Given the description of an element on the screen output the (x, y) to click on. 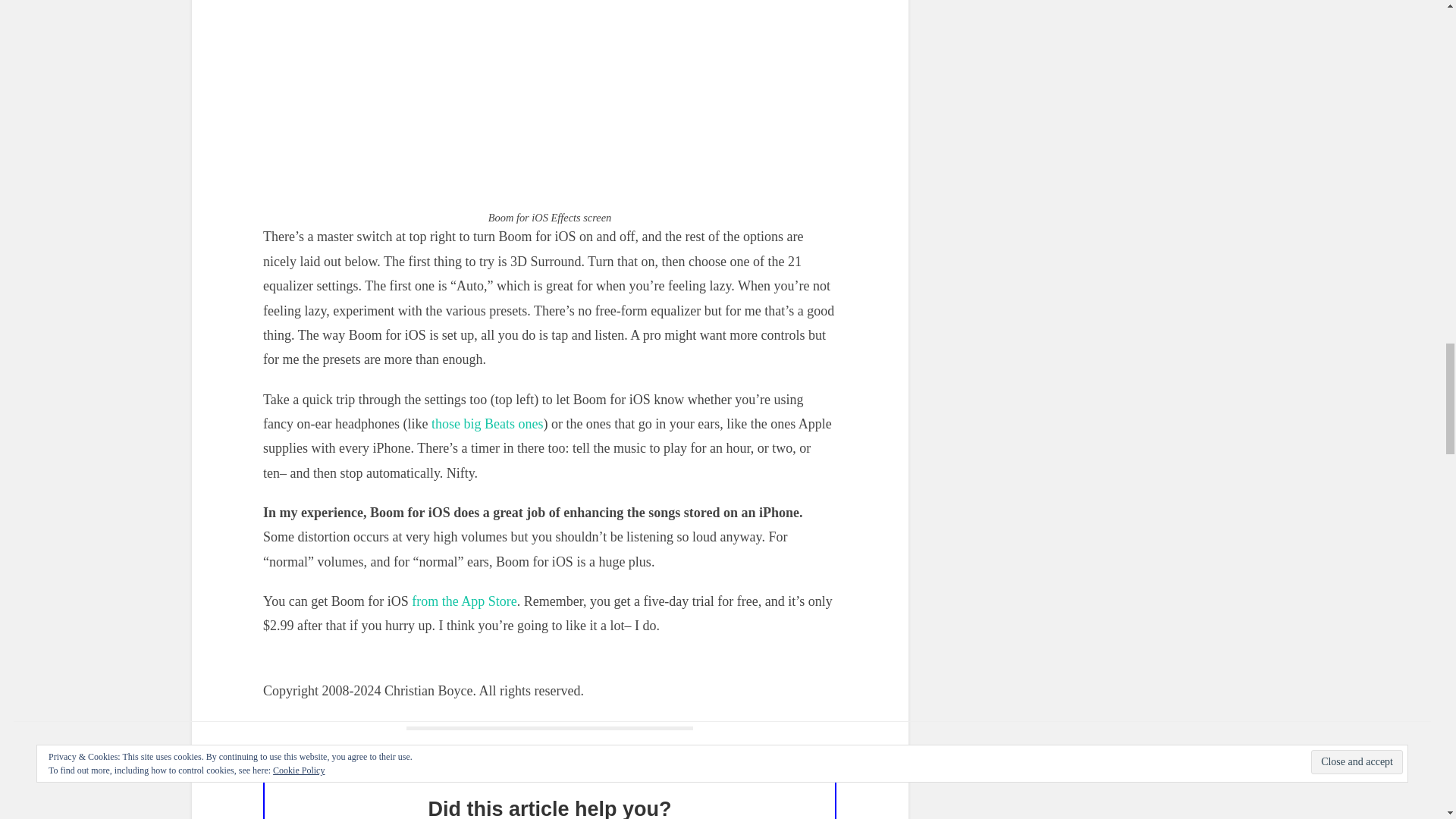
from the App Store (464, 601)
those big Beats ones (486, 423)
